Given the description of an element on the screen output the (x, y) to click on. 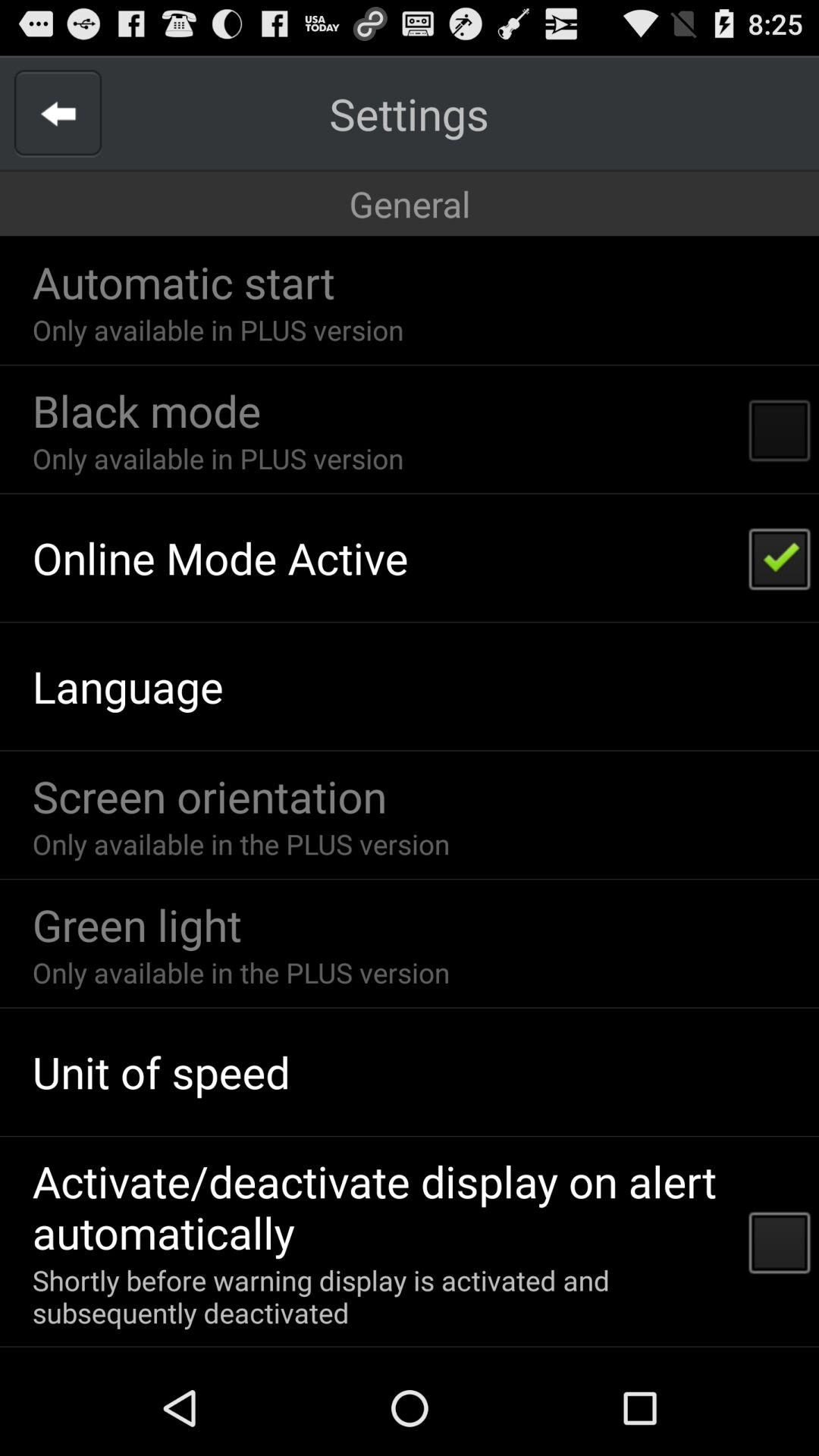
click the app above the only available in app (209, 795)
